Given the description of an element on the screen output the (x, y) to click on. 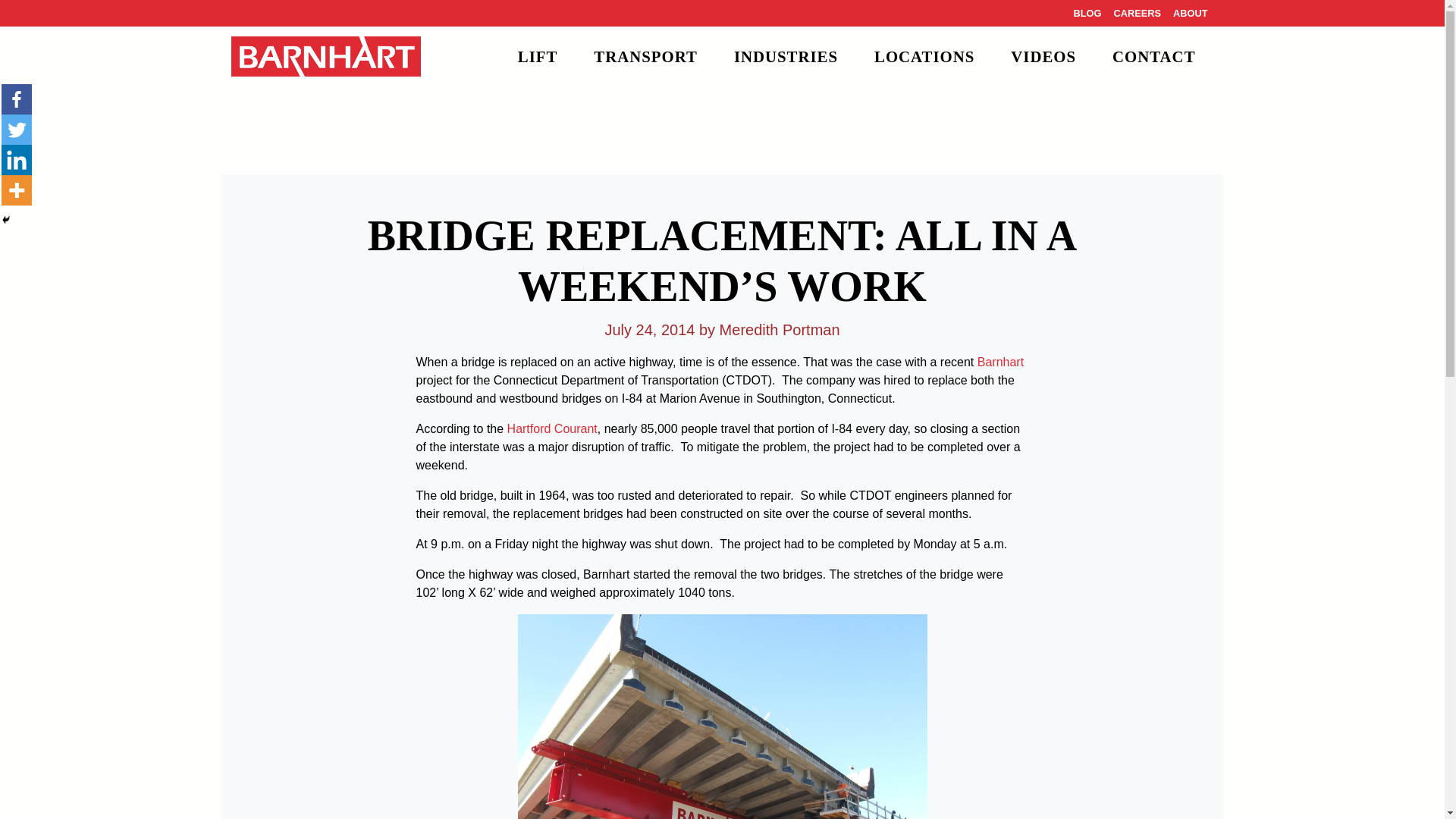
Hartford Courant (551, 428)
LOCATIONS (924, 56)
Videos (1043, 56)
More (16, 190)
Facebook (16, 99)
Transport (645, 56)
LIFT (537, 56)
Linkedin (16, 159)
Contact (1153, 56)
VIDEOS (1043, 56)
